Given the description of an element on the screen output the (x, y) to click on. 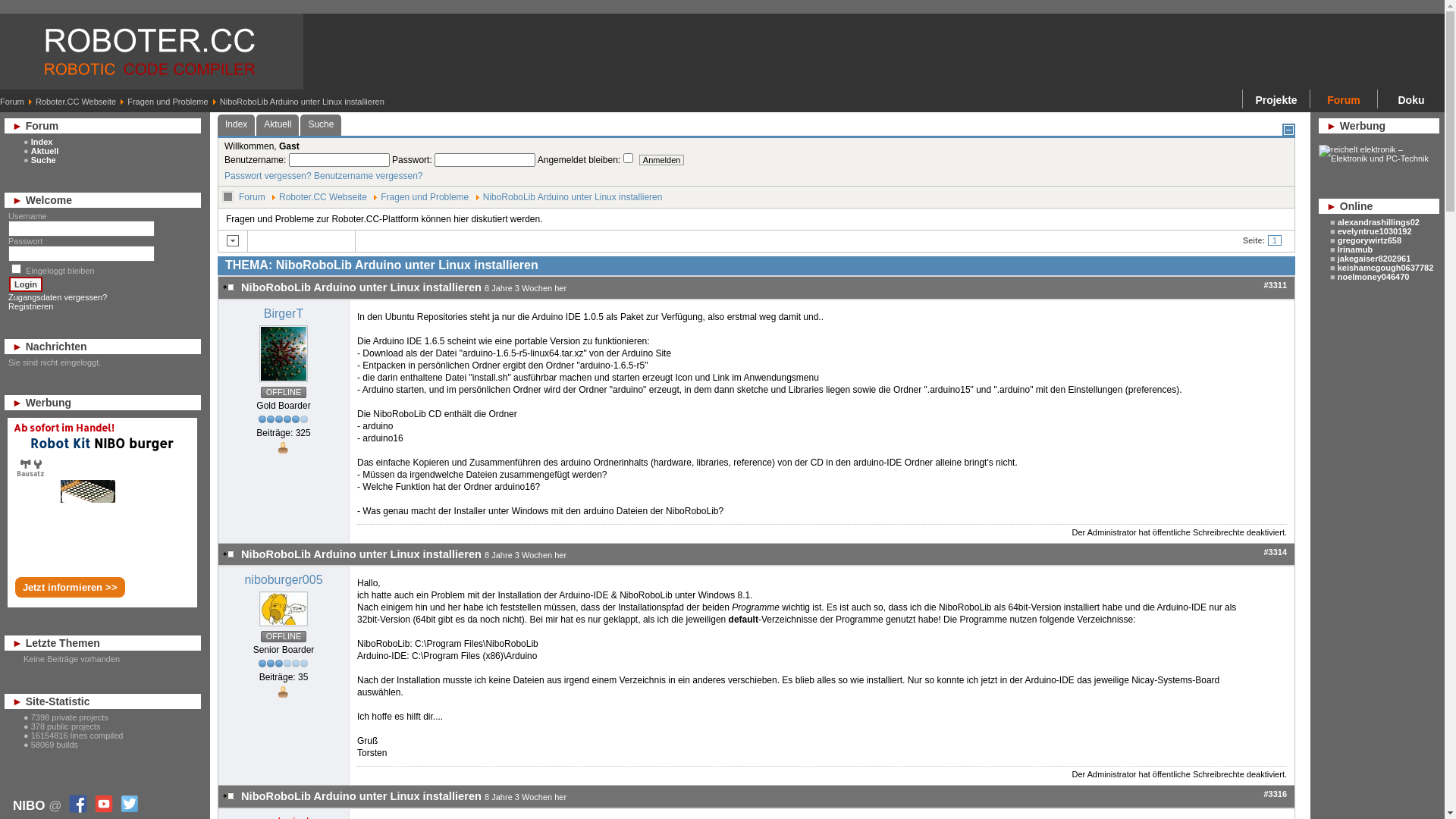
gregorywirtz658 Element type: text (1369, 239)
BirgerT Element type: text (283, 313)
keishamcgough0637782 Element type: text (1385, 267)
Registrieren Element type: text (30, 305)
alexandrashillings02 Element type: text (1378, 221)
Login Element type: text (25, 283)
Forum Element type: text (251, 196)
Anmelden Element type: text (661, 159)
niboburger005 Element type: text (283, 579)
Zugangsdaten vergessen? Element type: text (57, 296)
Forum Element type: text (12, 101)
Index Element type: text (42, 141)
Forum Element type: text (1343, 98)
Aktuell Element type: text (45, 150)
Suche Element type: text (43, 159)
Twitter Element type: hover (127, 803)
Index Element type: text (235, 124)
Fragen und Probleme Element type: text (167, 101)
noelmoney046470 Element type: text (1373, 276)
BirgerTs Profil Element type: hover (283, 382)
Nach unten gehen Element type: hover (232, 240)
niboburger005s Profil Element type: hover (283, 626)
Benutzername vergessen? Element type: text (367, 175)
Irinamub Element type: text (1354, 249)
NiboRoboLib Arduino unter Linux installieren Element type: text (572, 196)
Suche Element type: text (320, 124)
1 Element type: text (1274, 240)
#3311 Element type: text (1274, 284)
Doku Element type: text (1410, 98)
jakegaiser8202961 Element type: text (1374, 258)
YouTube Element type: hover (101, 803)
#3314 Element type: text (1274, 551)
evelyntrue1030192 Element type: text (1374, 230)
#3316 Element type: text (1274, 793)
Geschlecht: unbekannt Element type: hover (282, 691)
Geschlecht: unbekannt Element type: hover (282, 447)
Projekte Element type: text (1275, 98)
RoboterCC - Robotic Code Compiler Element type: hover (151, 51)
Roboter.CC Webseite Element type: text (75, 101)
Passwort vergessen? Element type: text (267, 175)
Aktuell Element type: text (277, 124)
Fragen und Probleme Element type: text (424, 196)
facebook Element type: hover (76, 803)
Roboter.CC Webseite Element type: text (323, 196)
